Given the description of an element on the screen output the (x, y) to click on. 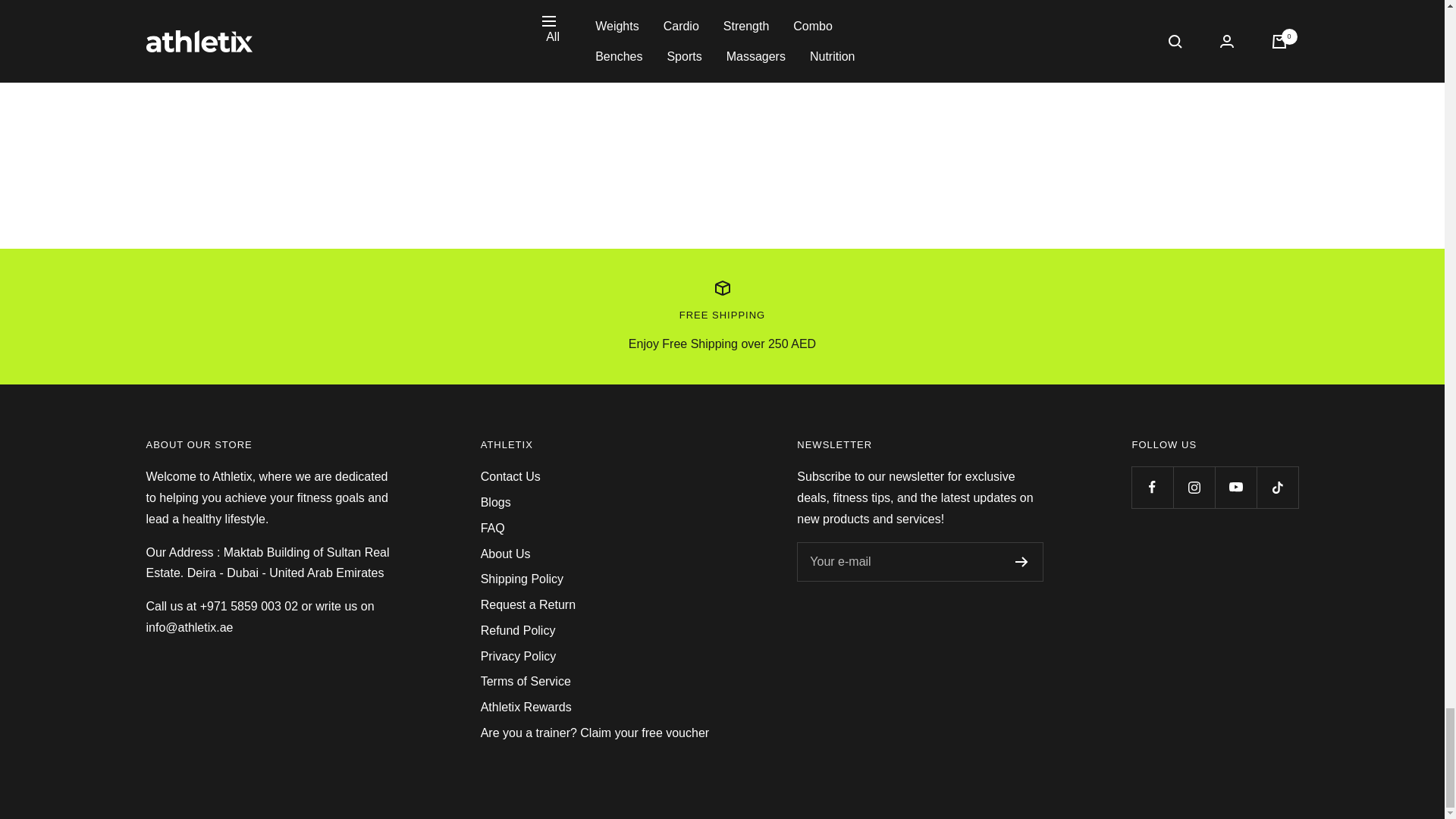
Register (1020, 561)
